Given the description of an element on the screen output the (x, y) to click on. 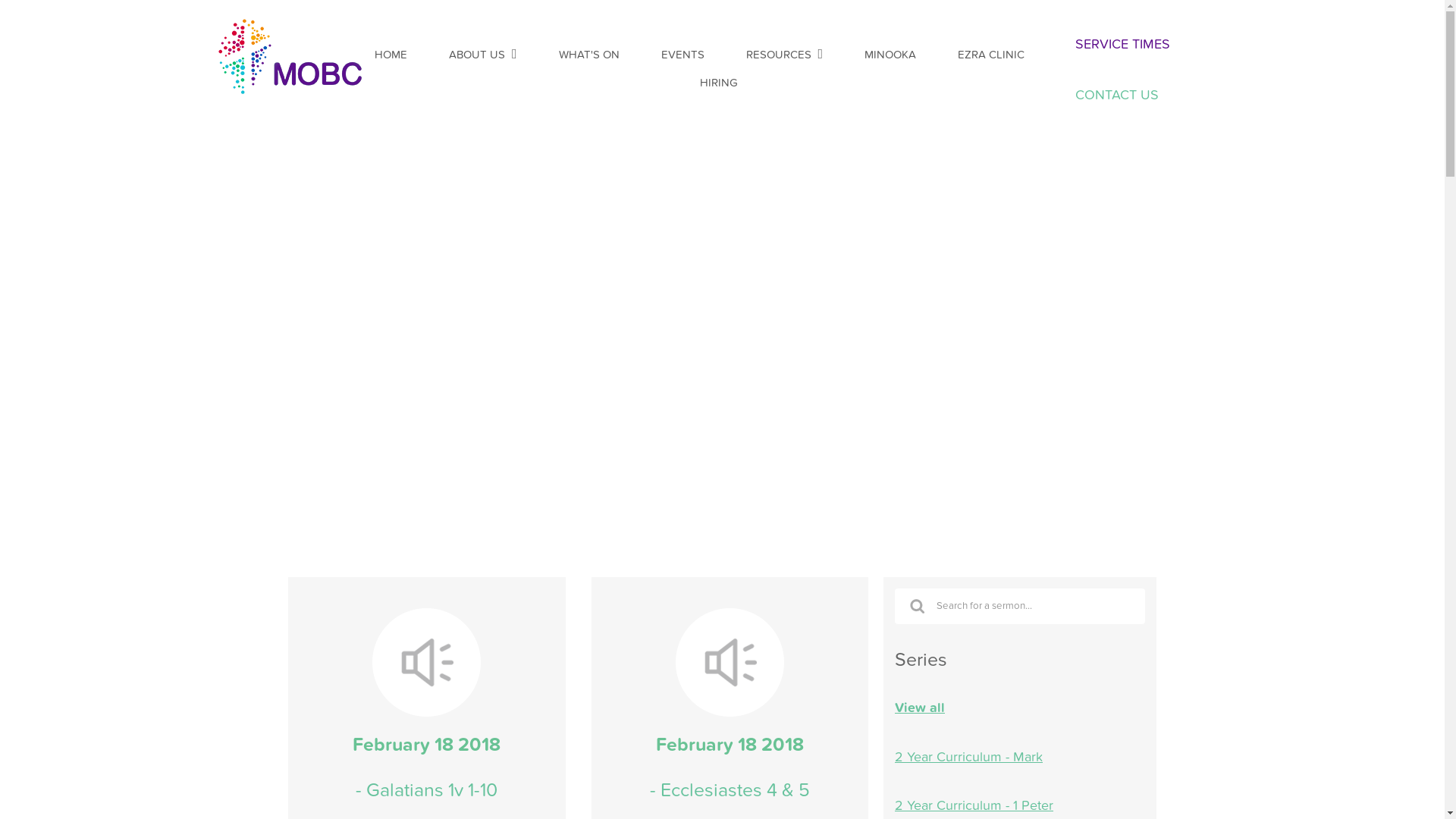
EZRA CLINIC Element type: text (990, 54)
HIRING Element type: text (718, 82)
View all Element type: text (1019, 708)
ABOUT US Element type: text (476, 54)
CONTACT US Element type: text (1150, 95)
WHAT'S ON Element type: text (588, 54)
EVENTS Element type: text (682, 54)
2 Year Curriculum - 1 Peter Element type: text (1019, 805)
RESOURCES Element type: text (778, 54)
MINOOKA Element type: text (890, 54)
HOME Element type: text (390, 54)
2 Year Curriculum - Mark Element type: text (1019, 757)
SERVICE TIMES Element type: text (1150, 44)
